Given the description of an element on the screen output the (x, y) to click on. 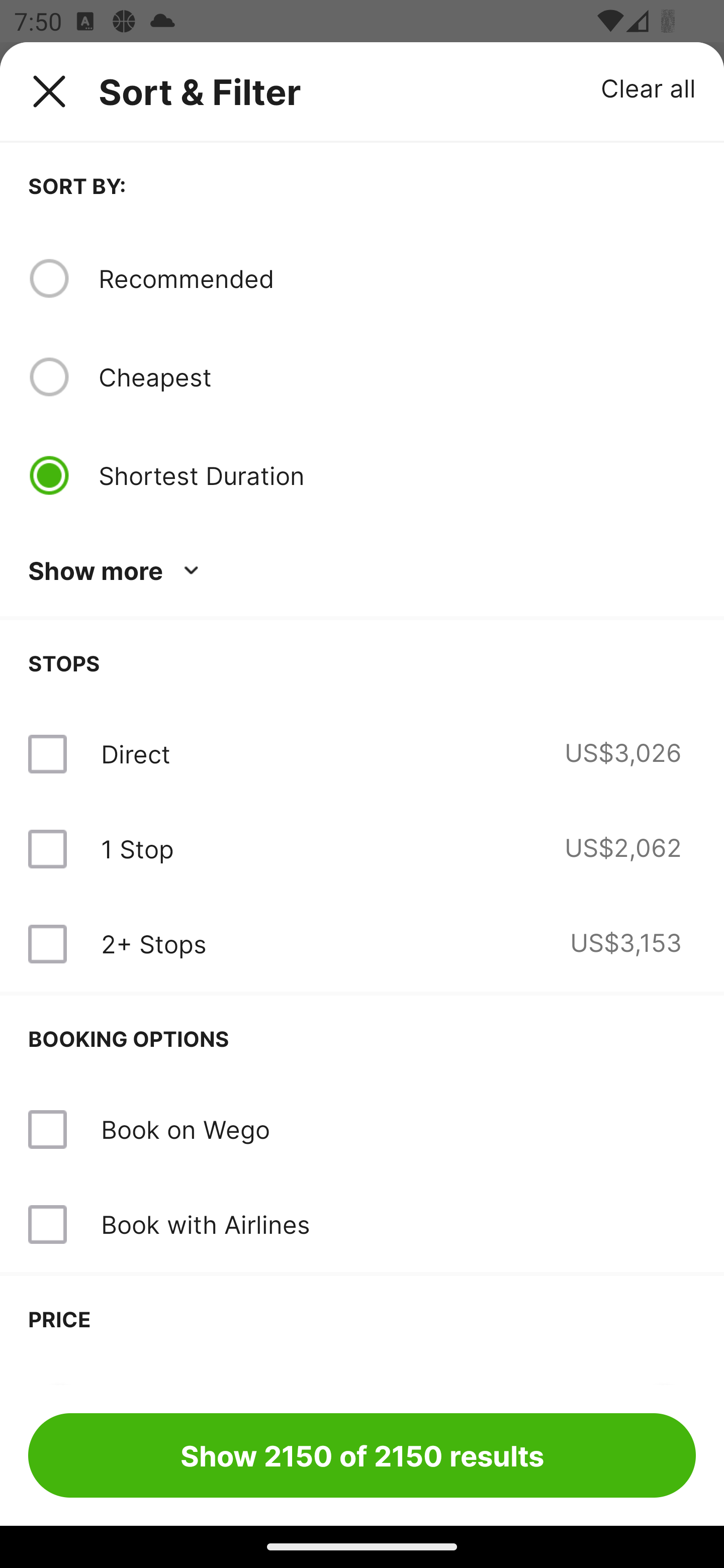
Clear all (648, 87)
Recommended  (396, 278)
Cheapest (396, 377)
Shortest Duration (396, 474)
Show more (116, 570)
Direct US$3,026 (362, 754)
Direct (135, 753)
1 Stop US$2,062 (362, 848)
1 Stop (136, 849)
2+ Stops US$3,153 (362, 943)
2+ Stops (153, 943)
Book on Wego (362, 1129)
Book on Wego (184, 1128)
Book with Airlines (362, 1224)
Book with Airlines (204, 1224)
Show 2150 of 2150 results (361, 1454)
